Given the description of an element on the screen output the (x, y) to click on. 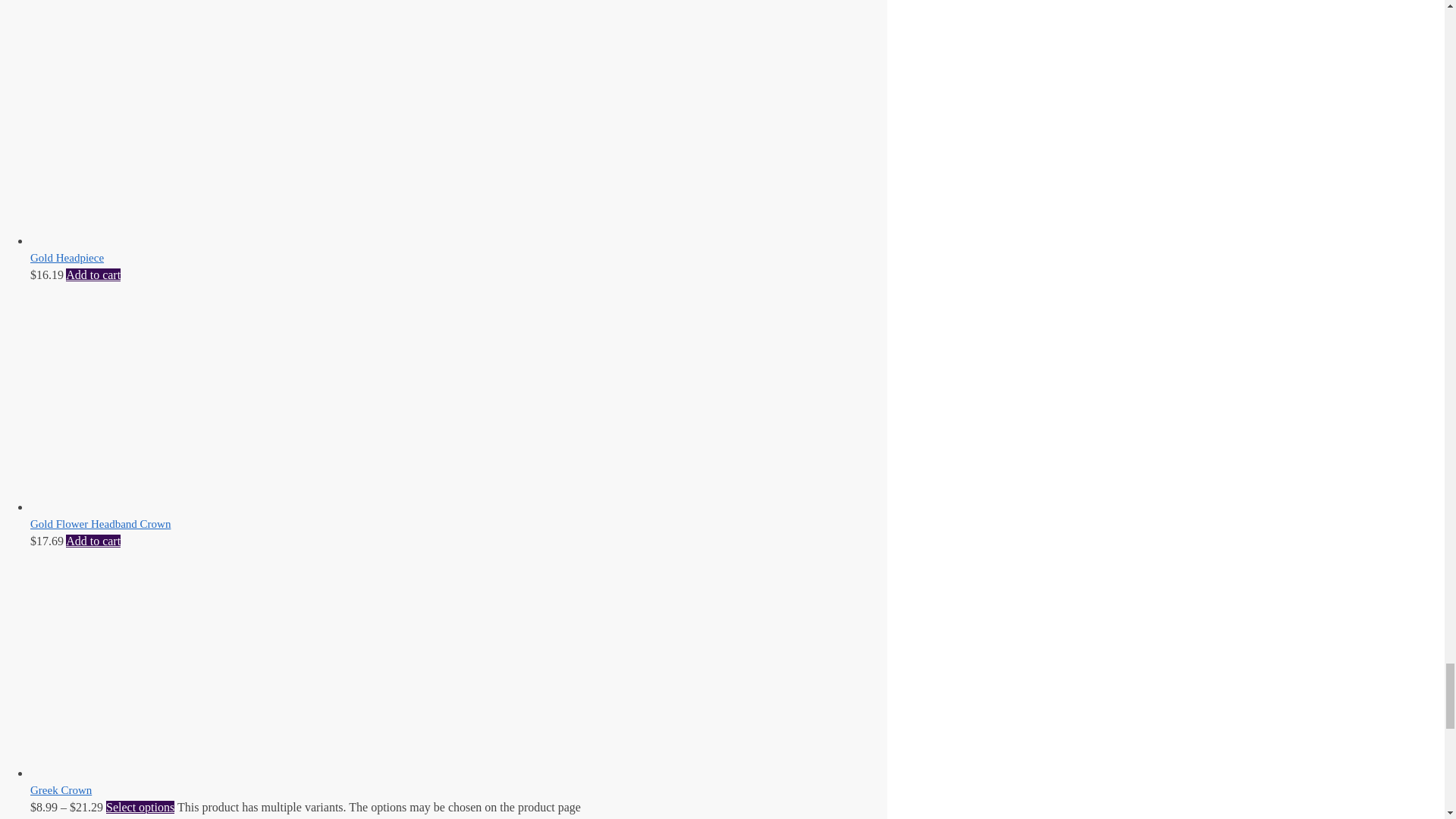
Greek Crown (143, 772)
Gold Headpiece (143, 240)
Gold Flower Headband Crown (143, 506)
